Given the description of an element on the screen output the (x, y) to click on. 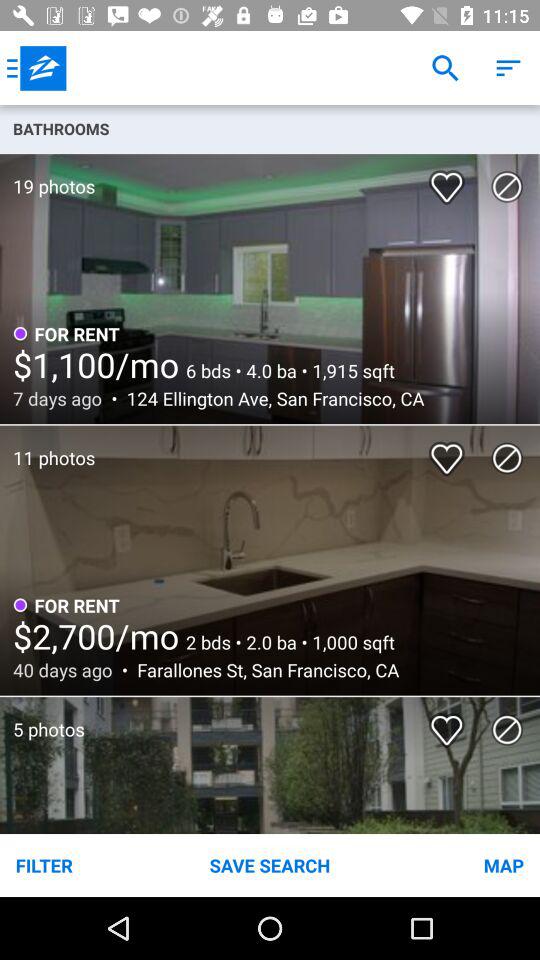
turn on icon above filter icon (42, 719)
